Given the description of an element on the screen output the (x, y) to click on. 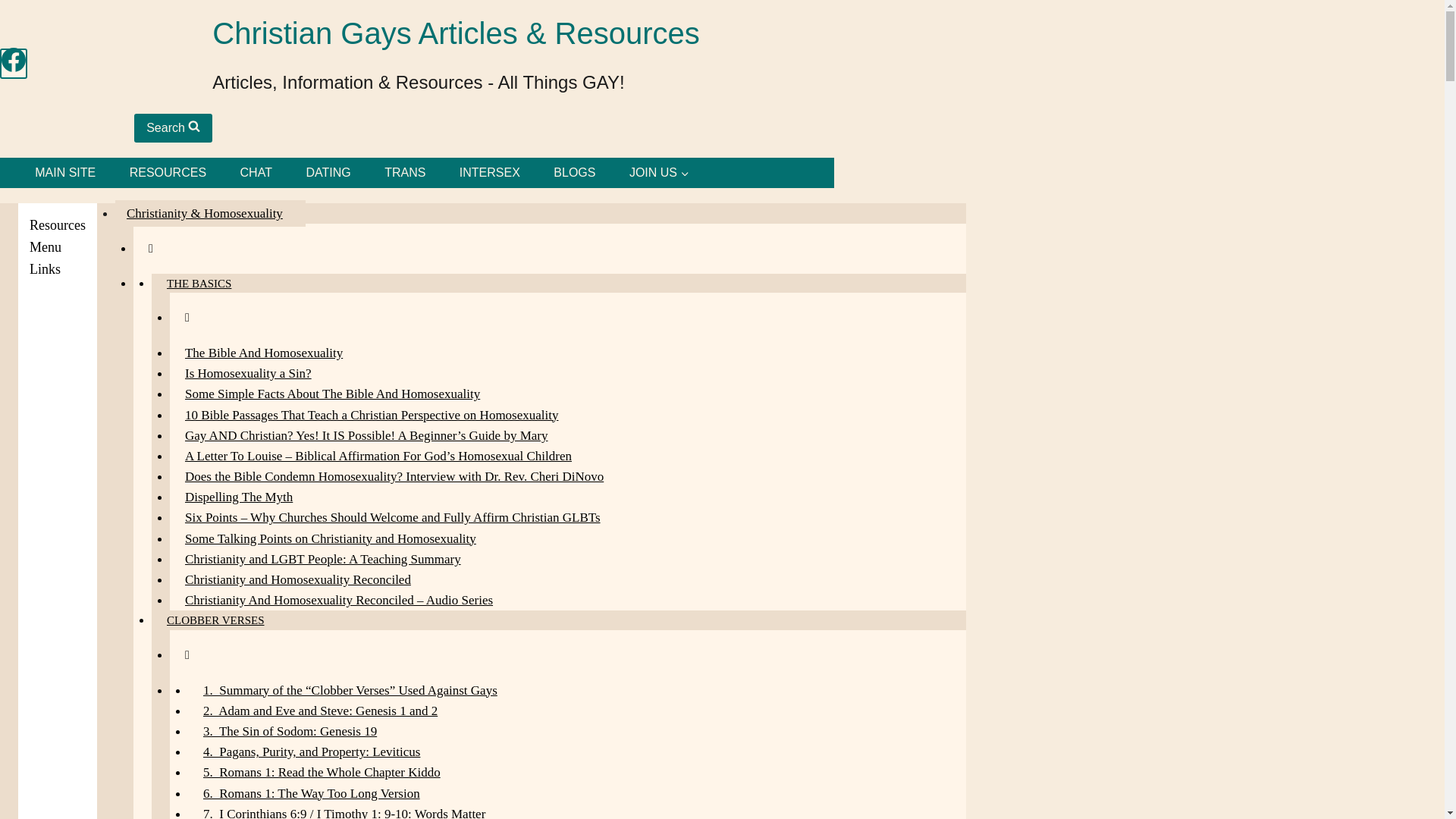
MAIN SITE (64, 172)
Christianity and Homosexuality Reconciled (298, 579)
INTERSEX (489, 172)
3.  The Sin of Sodom: Genesis 19 (289, 731)
DATING (328, 172)
BLOGS (574, 172)
Christianity and LGBT People: A Teaching Summary (323, 559)
Some Simple Facts About The Bible And Homosexuality (332, 393)
2.  Adam and Eve and Steve: Genesis 1 and 2 (319, 710)
4.  Pagans, Purity, and Property: Leviticus (311, 751)
RESOURCES (167, 172)
THE BASICS (198, 283)
CLOBBER VERSES (215, 619)
TRANS (405, 172)
